Given the description of an element on the screen output the (x, y) to click on. 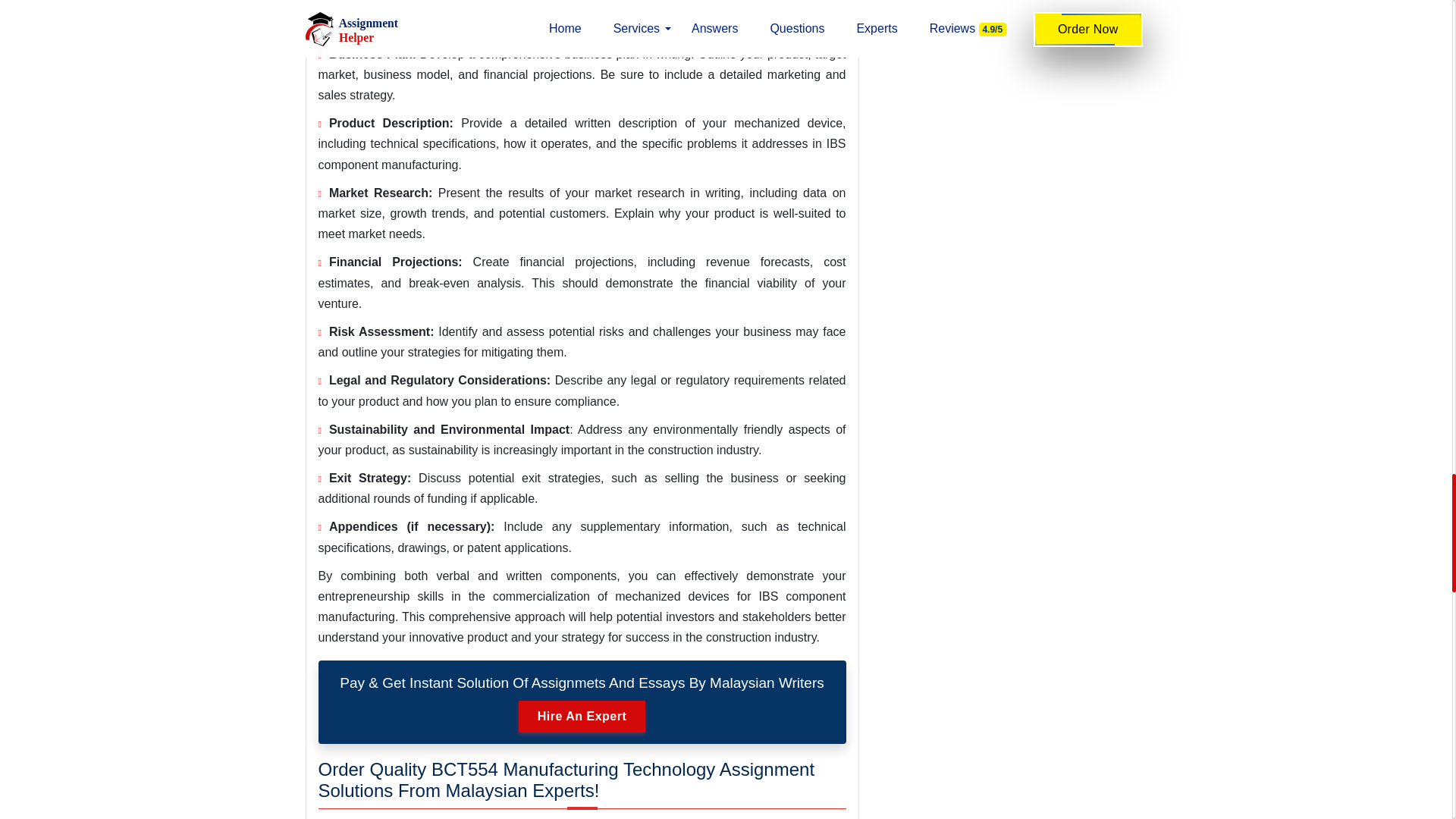
Hire An Expert (582, 716)
